Given the description of an element on the screen output the (x, y) to click on. 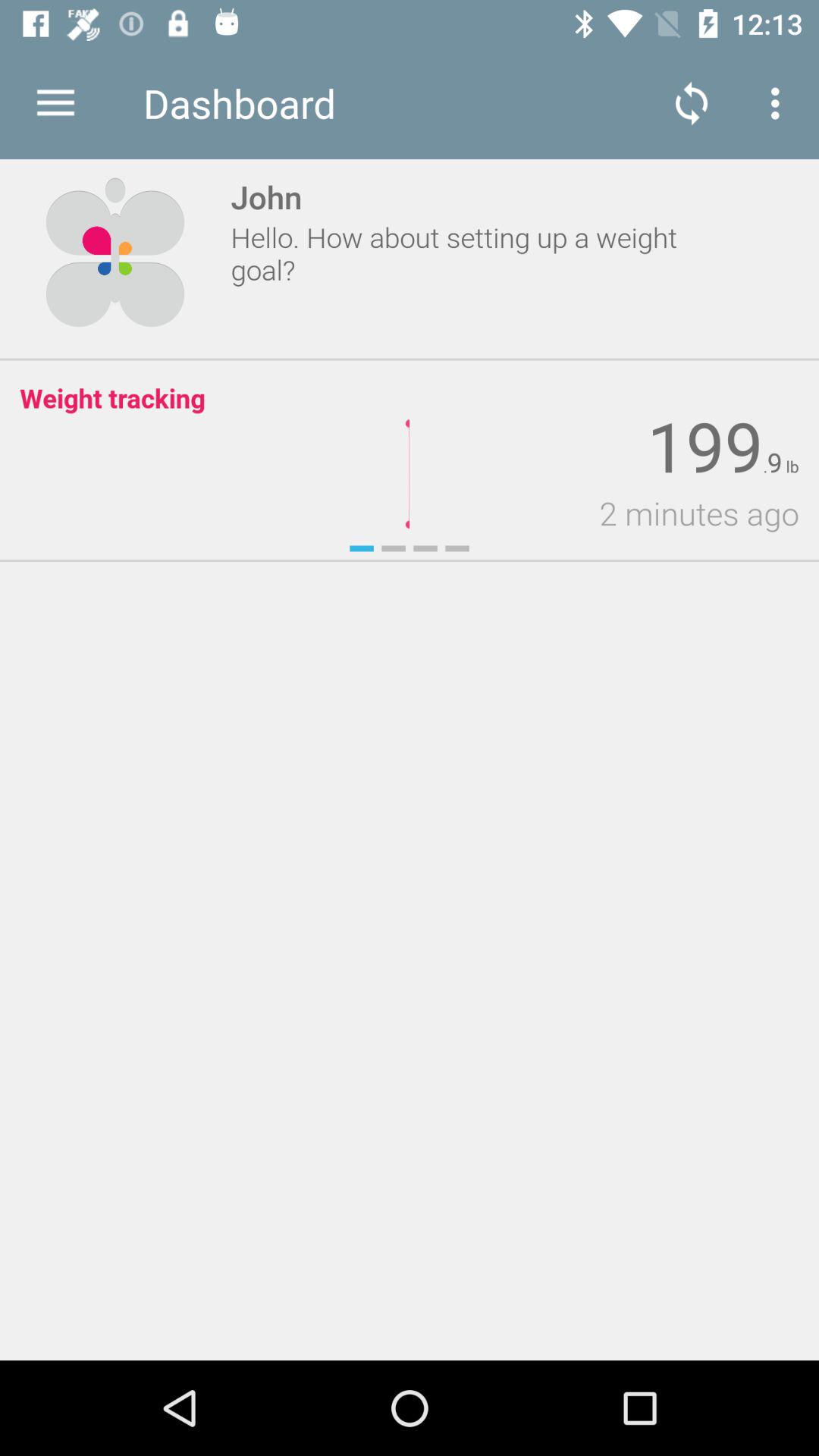
choose icon on the left (9, 759)
